Given the description of an element on the screen output the (x, y) to click on. 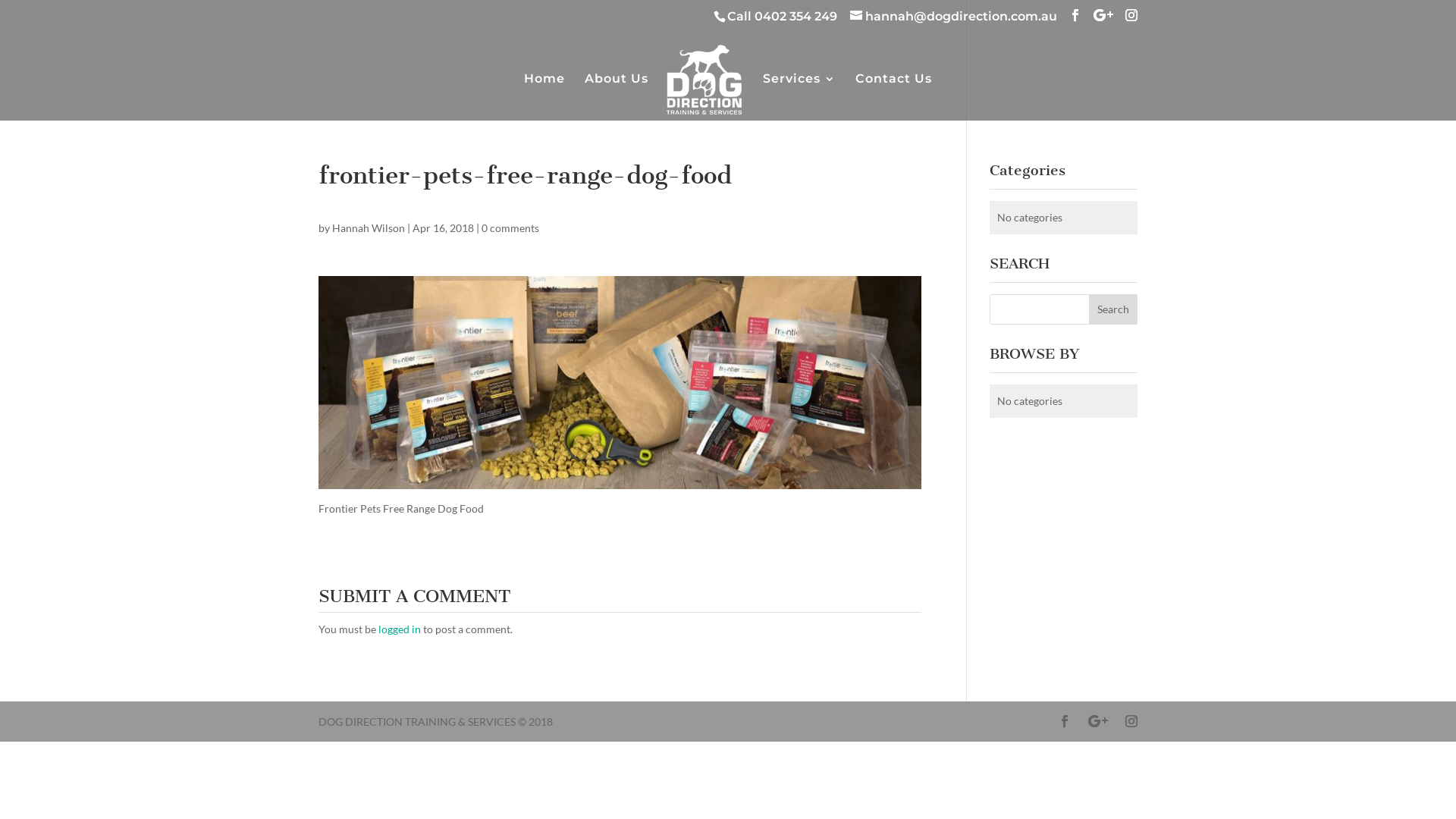
Contact Us Element type: text (893, 96)
About Us Element type: text (616, 96)
Services Element type: text (798, 96)
hannah@dogdirection.com.au Element type: text (953, 16)
Search Element type: text (1112, 309)
0 comments Element type: text (510, 227)
Home Element type: text (544, 96)
0402 354 249 Element type: text (795, 16)
Hannah Wilson Element type: text (368, 227)
logged in Element type: text (399, 628)
